Given the description of an element on the screen output the (x, y) to click on. 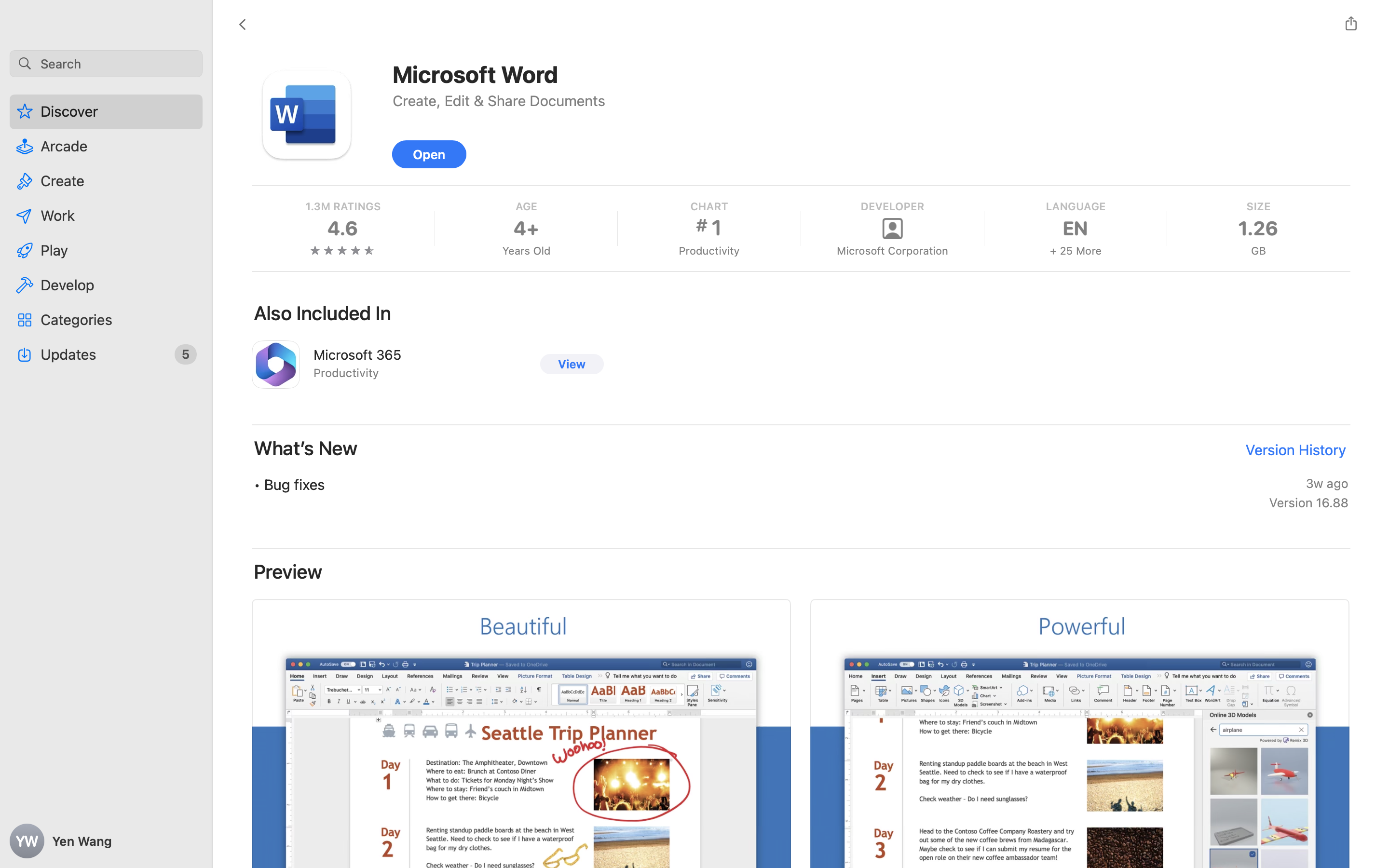
Years Old Element type: AXStaticText (525, 250)
GB Element type: AXStaticText (1257, 250)
SIZE Element type: AXStaticText (1257, 206)
Yen Wang Element type: AXButton (106, 840)
LANGUAGE Element type: AXStaticText (1074, 206)
